Given the description of an element on the screen output the (x, y) to click on. 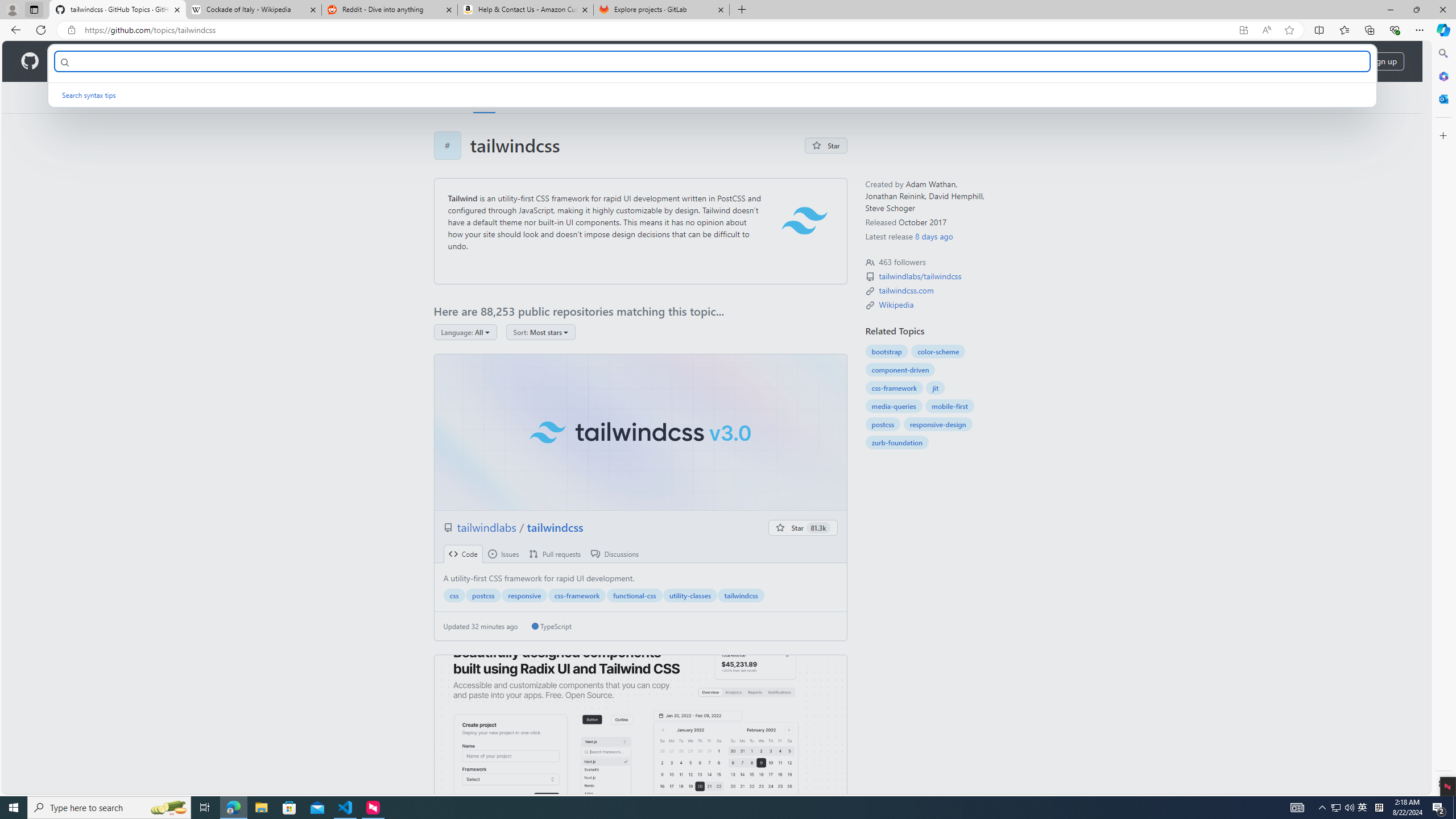
Solutions (128, 60)
Topic followers (869, 261)
bootstrap (886, 351)
Topics (484, 97)
responsive (524, 594)
utility-classes (689, 594)
tailwind logo (804, 220)
responsive-design (937, 423)
en.wikipedia.org/wiki/Tailwind_CSS (896, 304)
